Given the description of an element on the screen output the (x, y) to click on. 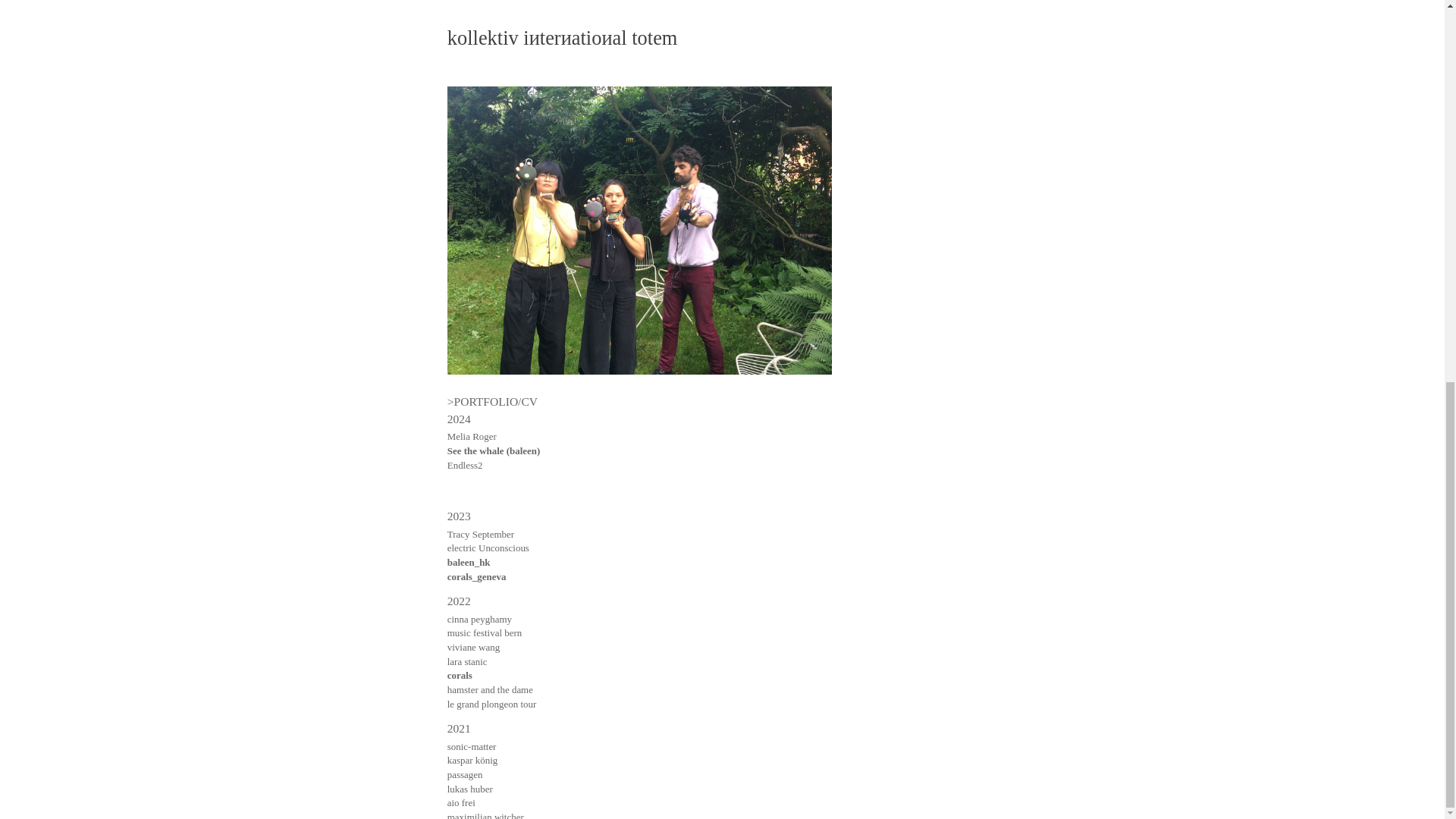
pinyin (458, 367)
antoine chessex (477, 202)
maximilian witcher (485, 103)
ko-operator (469, 188)
charles kwong (474, 174)
the riot (461, 382)
passagen (464, 61)
aio frei (461, 89)
baleen (460, 301)
medusen (465, 146)
